Given the description of an element on the screen output the (x, y) to click on. 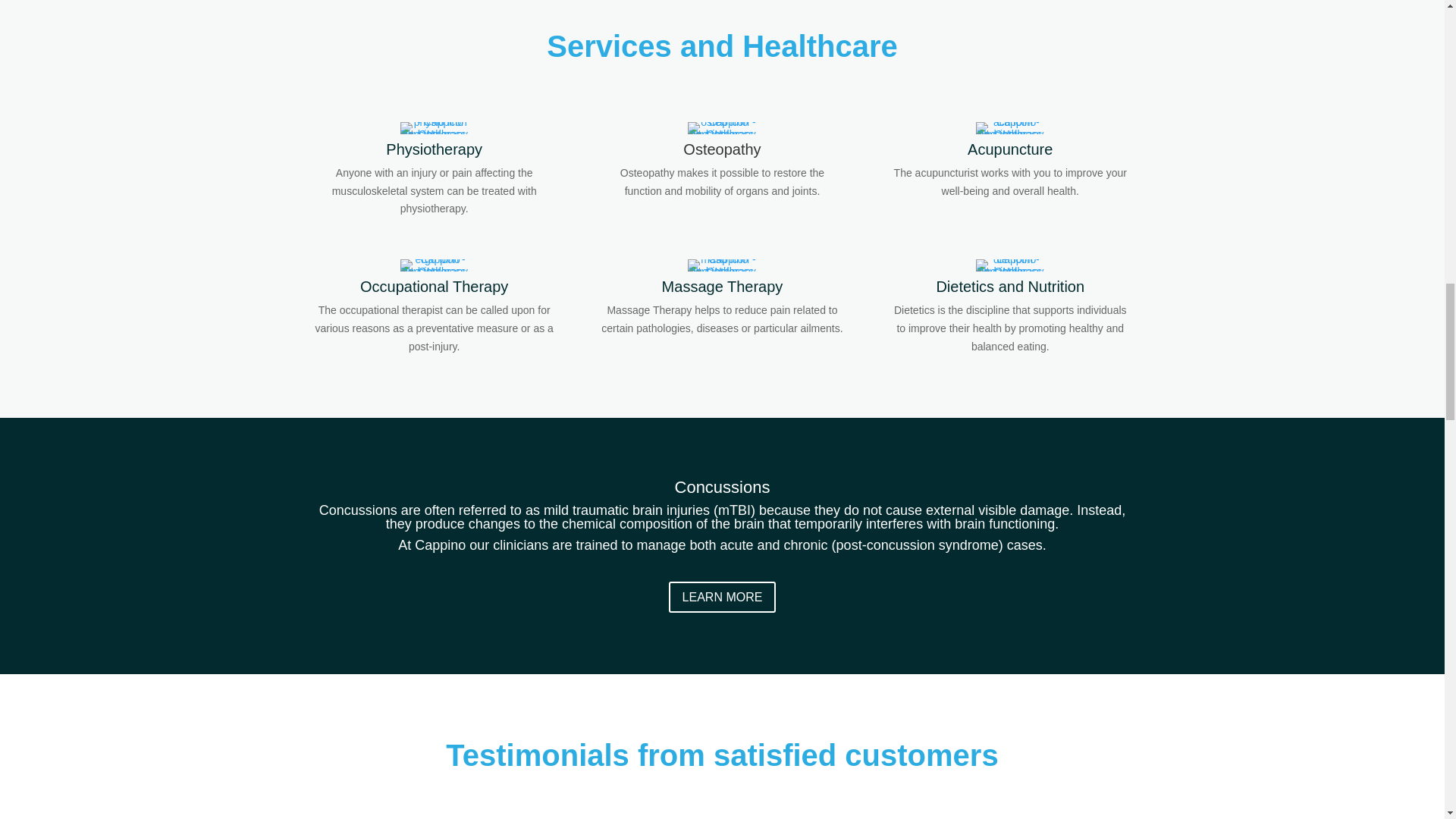
Cappino Physiotherapy and Wellness Center (721, 128)
Cappino Physiotherapy and Wellness Center (1009, 128)
Cappino Physiotherapy and Wellness Center (434, 265)
Cappino Physiotherapy and Wellness Center (434, 128)
Cappino Physiotherapy and Wellness Center (721, 265)
